Given the description of an element on the screen output the (x, y) to click on. 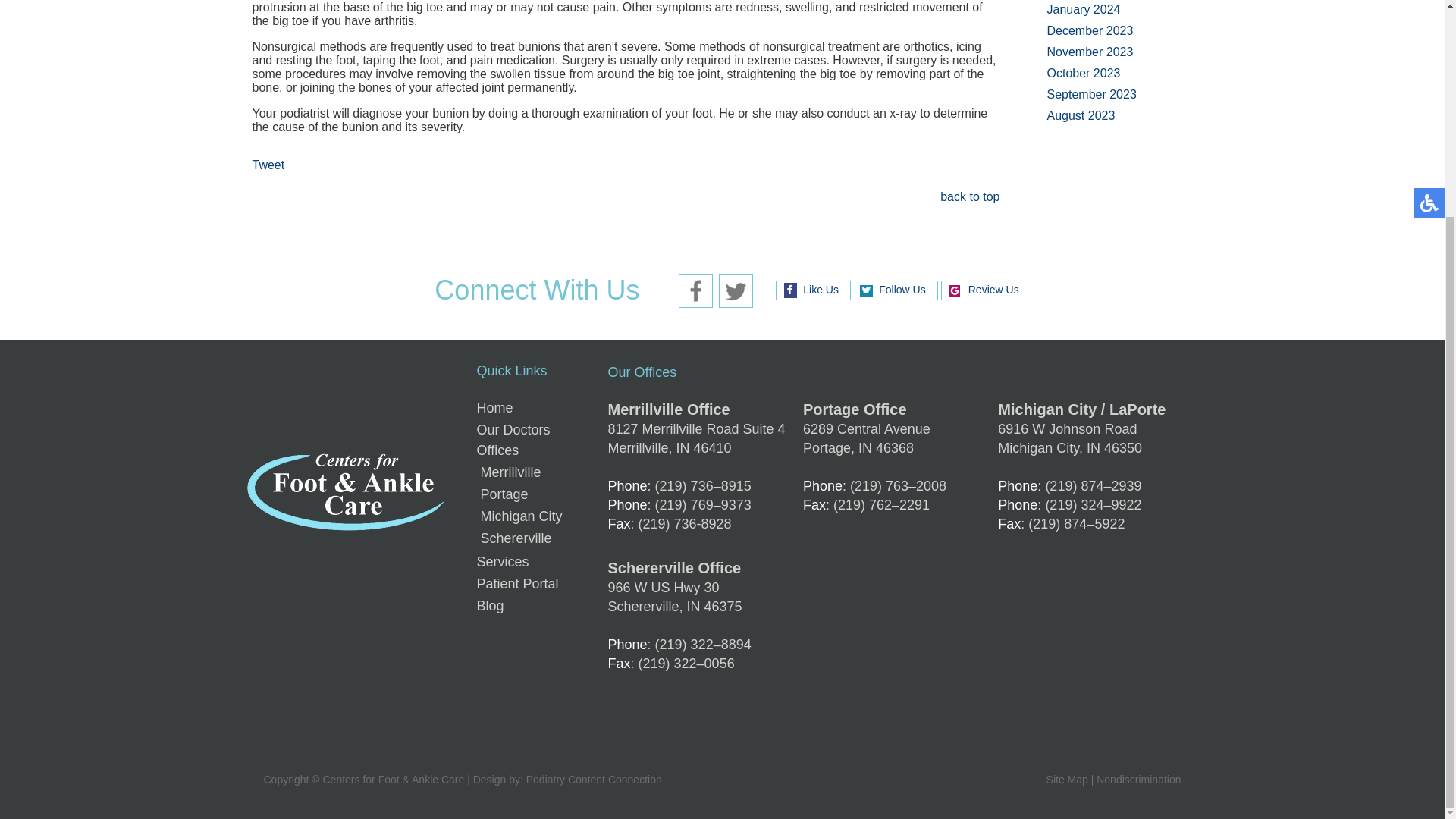
back to top (969, 197)
November 2023 (1089, 51)
December 2023 (1089, 30)
Tweet (267, 165)
January 2024 (1082, 9)
October 2023 (1082, 72)
